Given the description of an element on the screen output the (x, y) to click on. 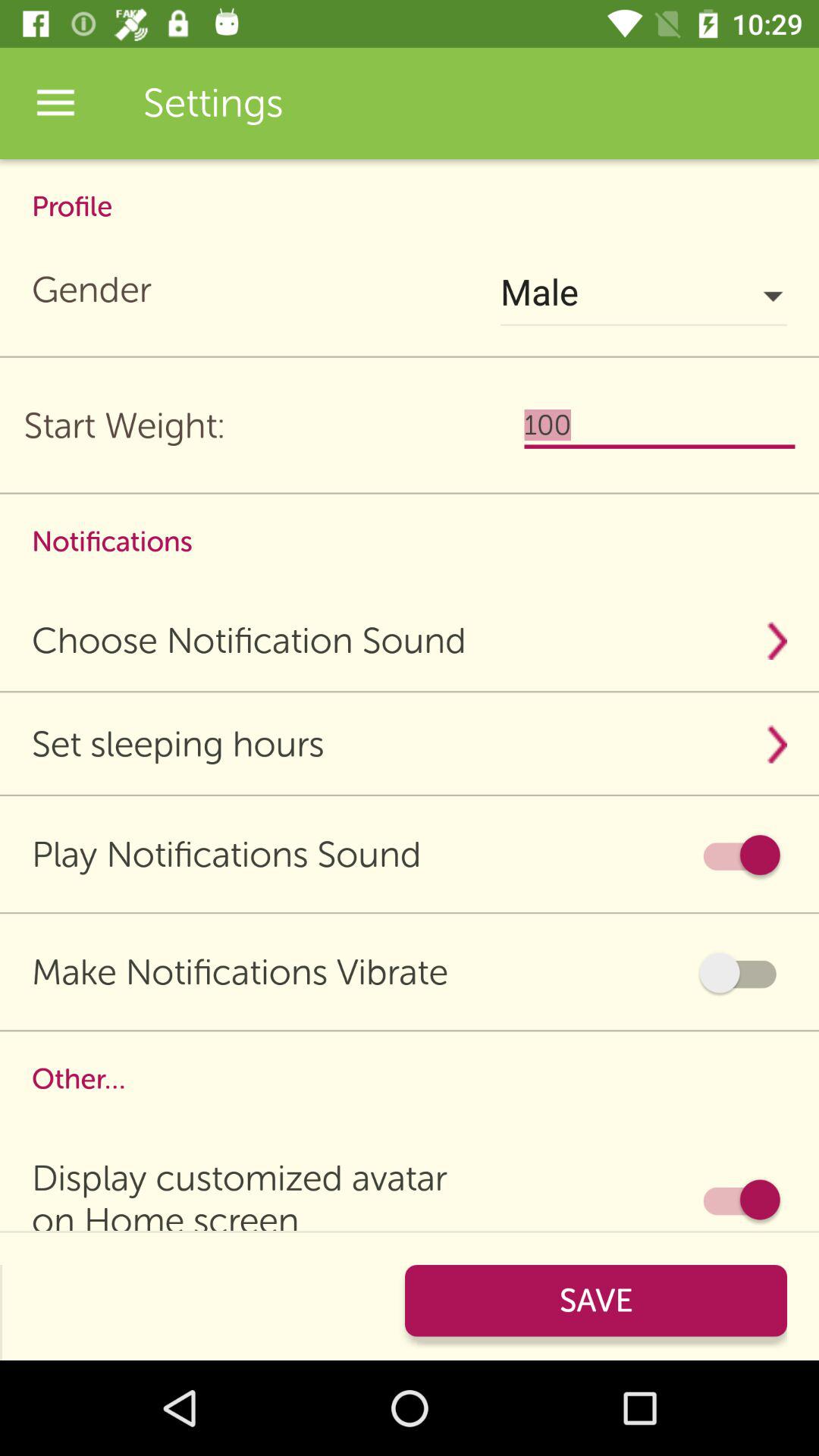
turn off the item below the set sleeping hours item (739, 855)
